Given the description of an element on the screen output the (x, y) to click on. 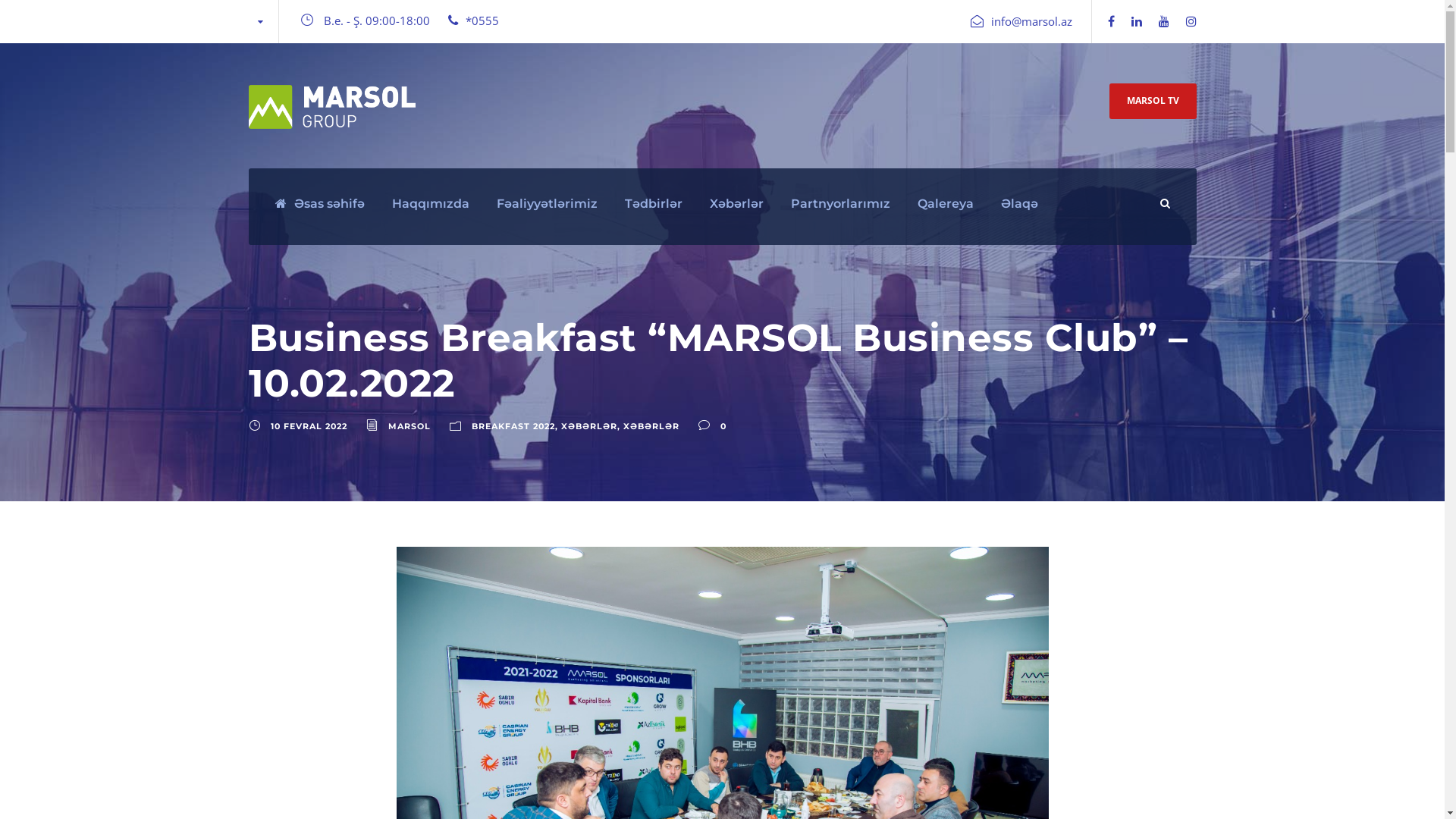
linkedin Element type: hover (1136, 20)
instagram Element type: hover (1191, 20)
youtube Element type: hover (1163, 20)
Marsol Logo new white Element type: hover (331, 106)
facebook Element type: hover (1110, 20)
MARSOL Element type: text (409, 425)
MARSOL TV Element type: text (1151, 100)
Qalereya Element type: text (945, 218)
10 FEVRAL 2022 Element type: text (307, 425)
BREAKFAST 2022 Element type: text (513, 425)
